Given the description of an element on the screen output the (x, y) to click on. 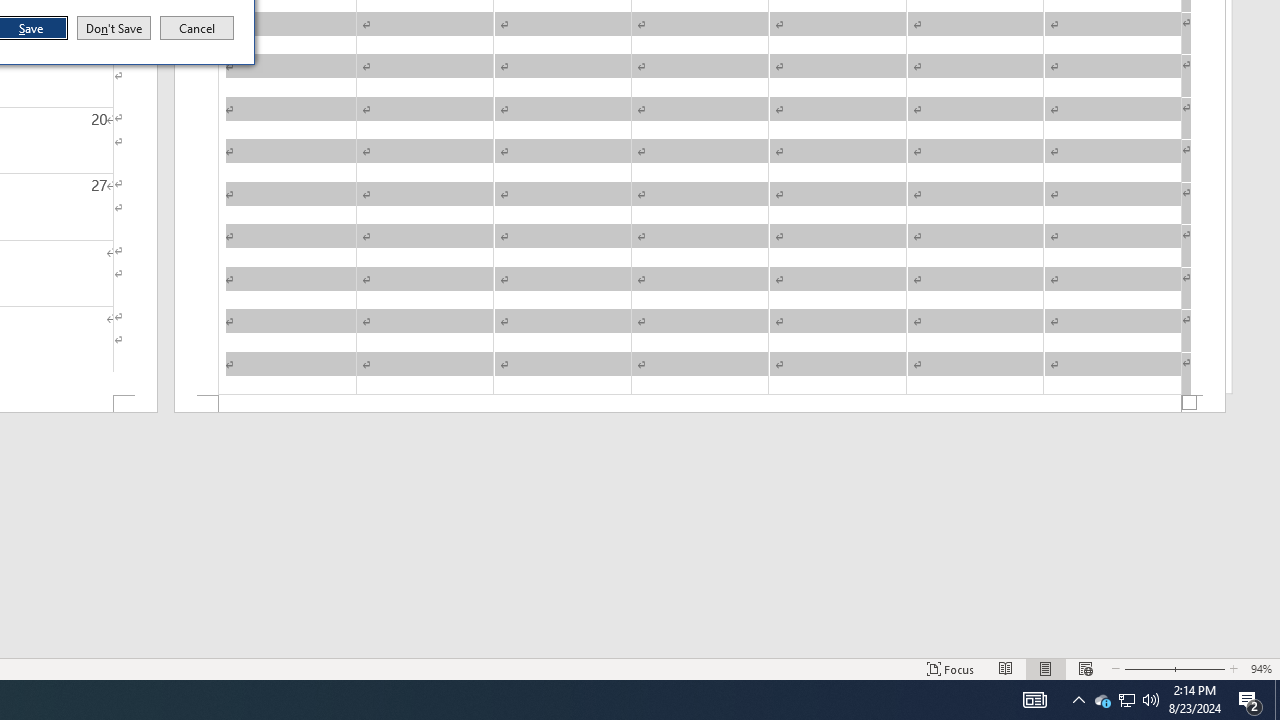
Don't Save (113, 27)
